Given the description of an element on the screen output the (x, y) to click on. 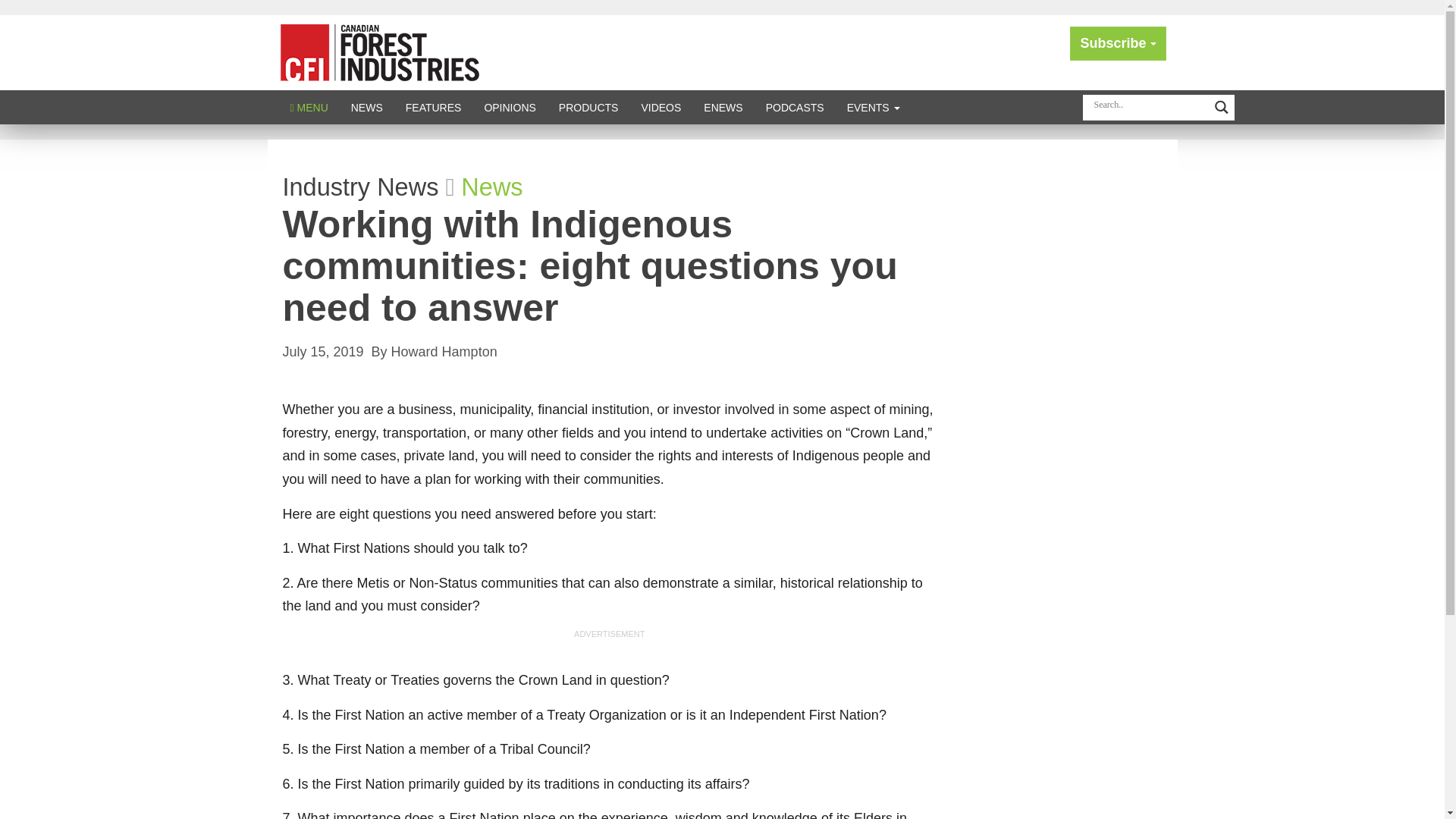
PODCASTS (794, 107)
OPINIONS (509, 107)
FEATURES (433, 107)
NEWS (366, 107)
EVENTS (873, 107)
PRODUCTS (588, 107)
VIDEOS (660, 107)
ENEWS (723, 107)
Wood Business (379, 51)
MENU (309, 107)
Subscribe (1118, 43)
Click to show site navigation (309, 107)
